Given the description of an element on the screen output the (x, y) to click on. 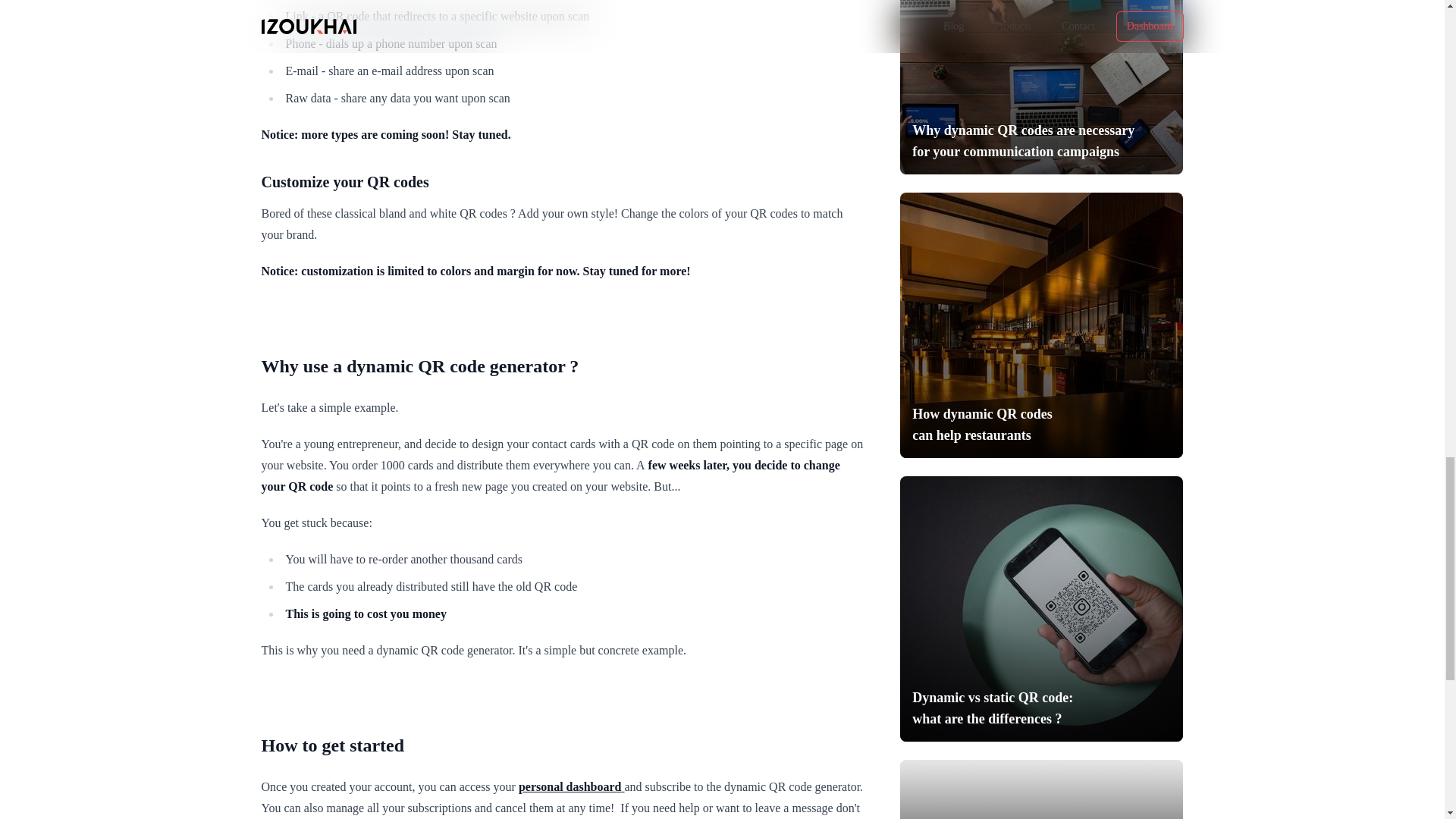
Introducing rule-based dynamic QR codes (1040, 789)
Dynamic vs static QR code: what are the differences ? (1040, 608)
How dynamic QR codes can help restaurants (1040, 324)
personal dashboard (571, 785)
